Given the description of an element on the screen output the (x, y) to click on. 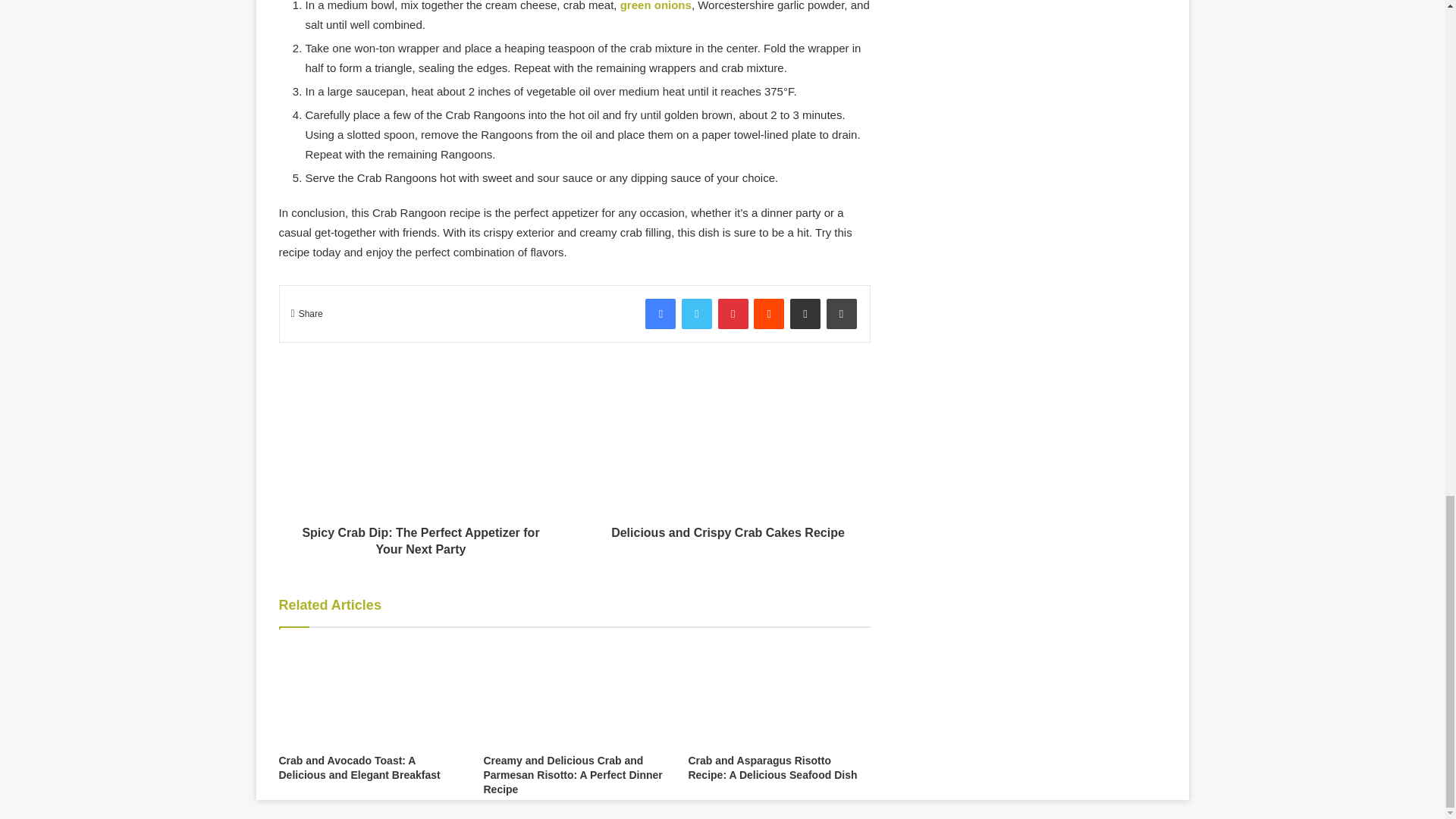
green onions (655, 5)
